Given the description of an element on the screen output the (x, y) to click on. 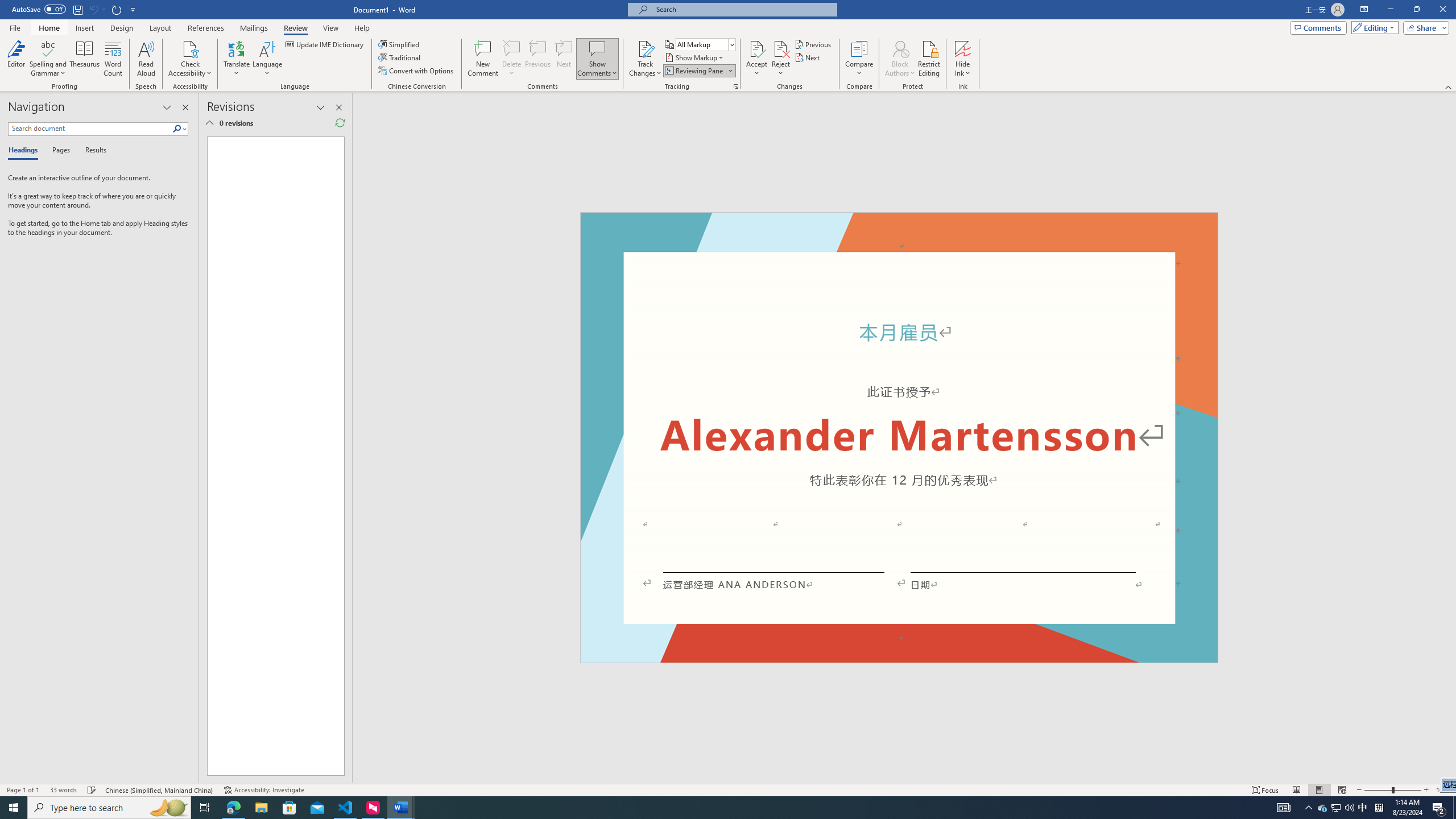
Spelling and Grammar (48, 48)
Show Detailed Summary (209, 122)
Thesaurus... (84, 58)
Word Count (113, 58)
Restrict Editing (929, 58)
Refresh Reviewing Pane (339, 122)
Search document (89, 128)
Header -Section 1- (898, 225)
Check Accessibility (189, 48)
